Given the description of an element on the screen output the (x, y) to click on. 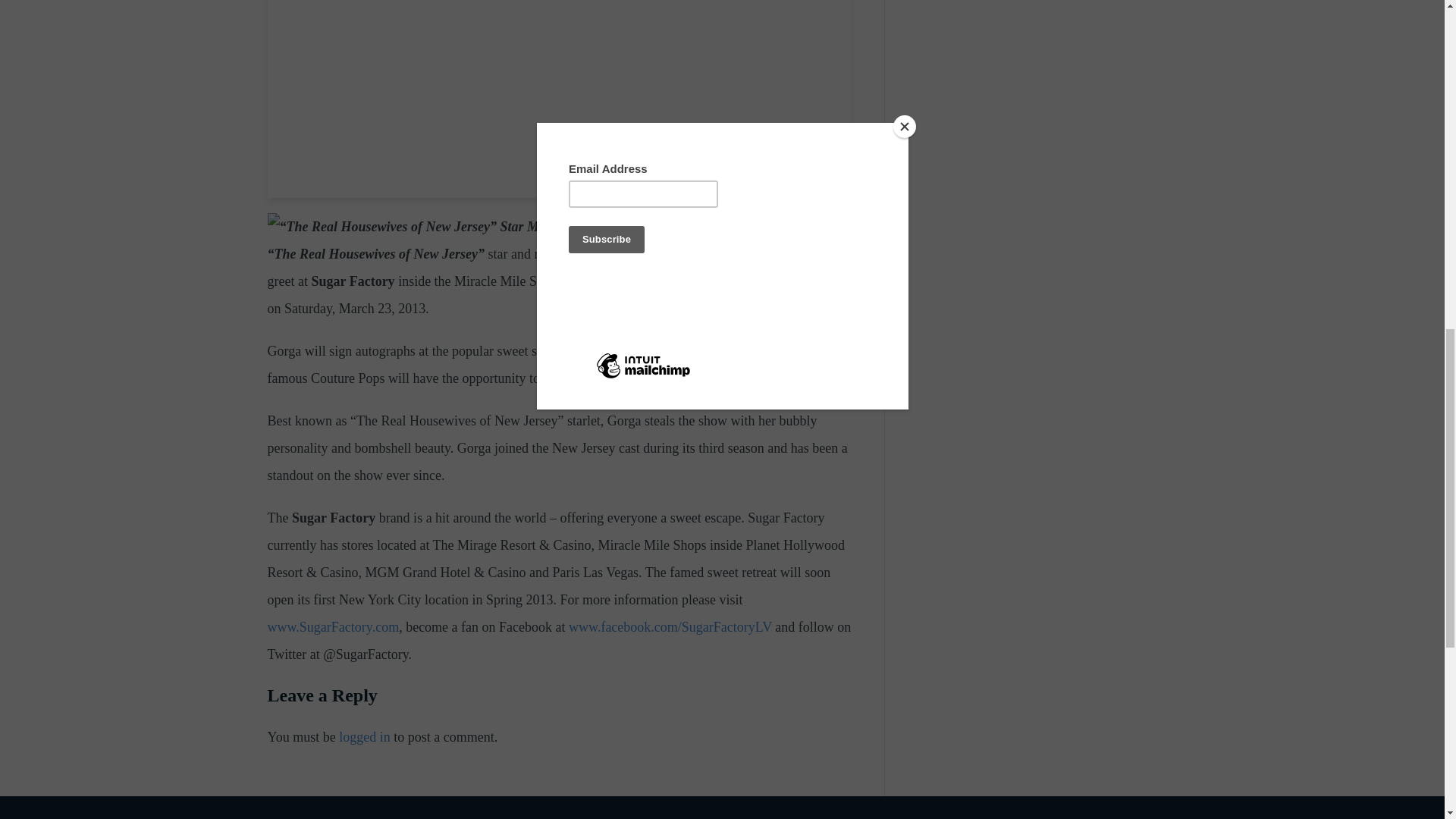
logged in (364, 736)
www.SugarFactory.com (332, 626)
